Given the description of an element on the screen output the (x, y) to click on. 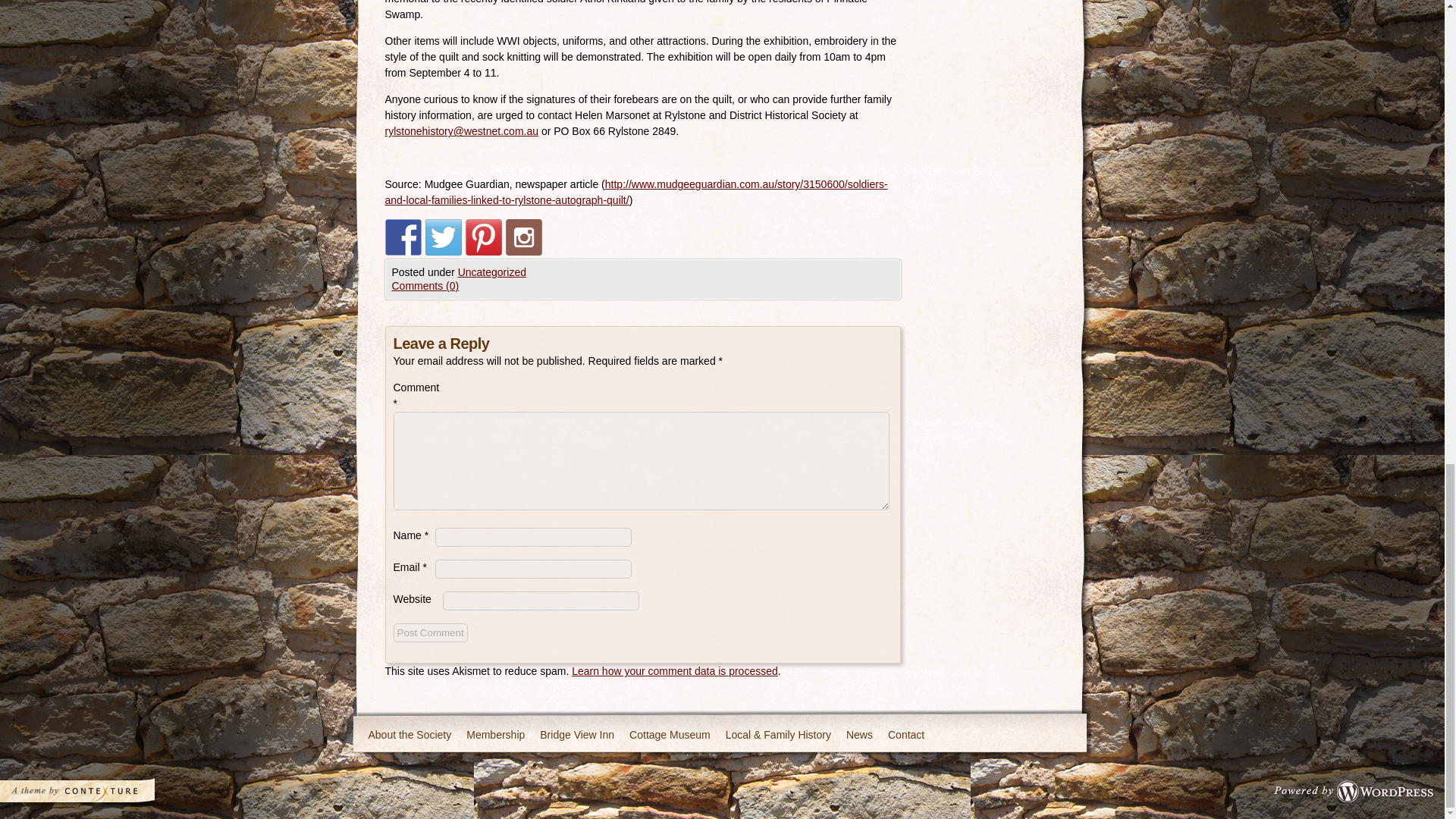
Bridge View Inn (576, 735)
Learn how your comment data is processed (674, 671)
A WordPress Theme by Contexture International (97, 794)
Post Comment (430, 632)
Our board on Pinterest (483, 237)
Follow us on Facebook (403, 237)
Follow us on Twitter (443, 237)
Post Comment (430, 632)
About the Society (410, 735)
Check out our instagram feed (523, 237)
